Given the description of an element on the screen output the (x, y) to click on. 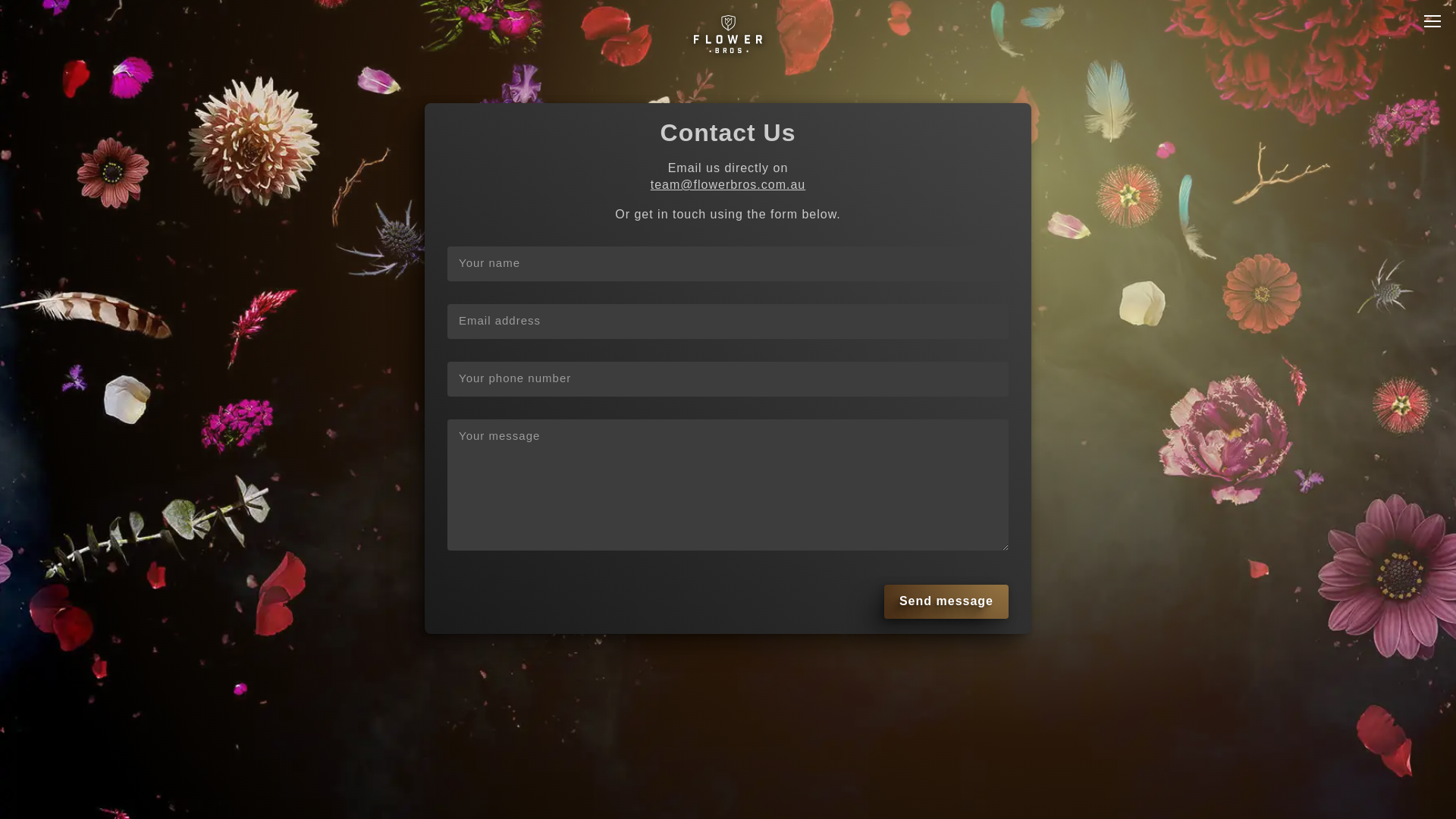
Flower Bros logo Element type: text (727, 36)
team@flowerbros.com.au Element type: text (728, 184)
Send message Element type: text (946, 601)
